Given the description of an element on the screen output the (x, y) to click on. 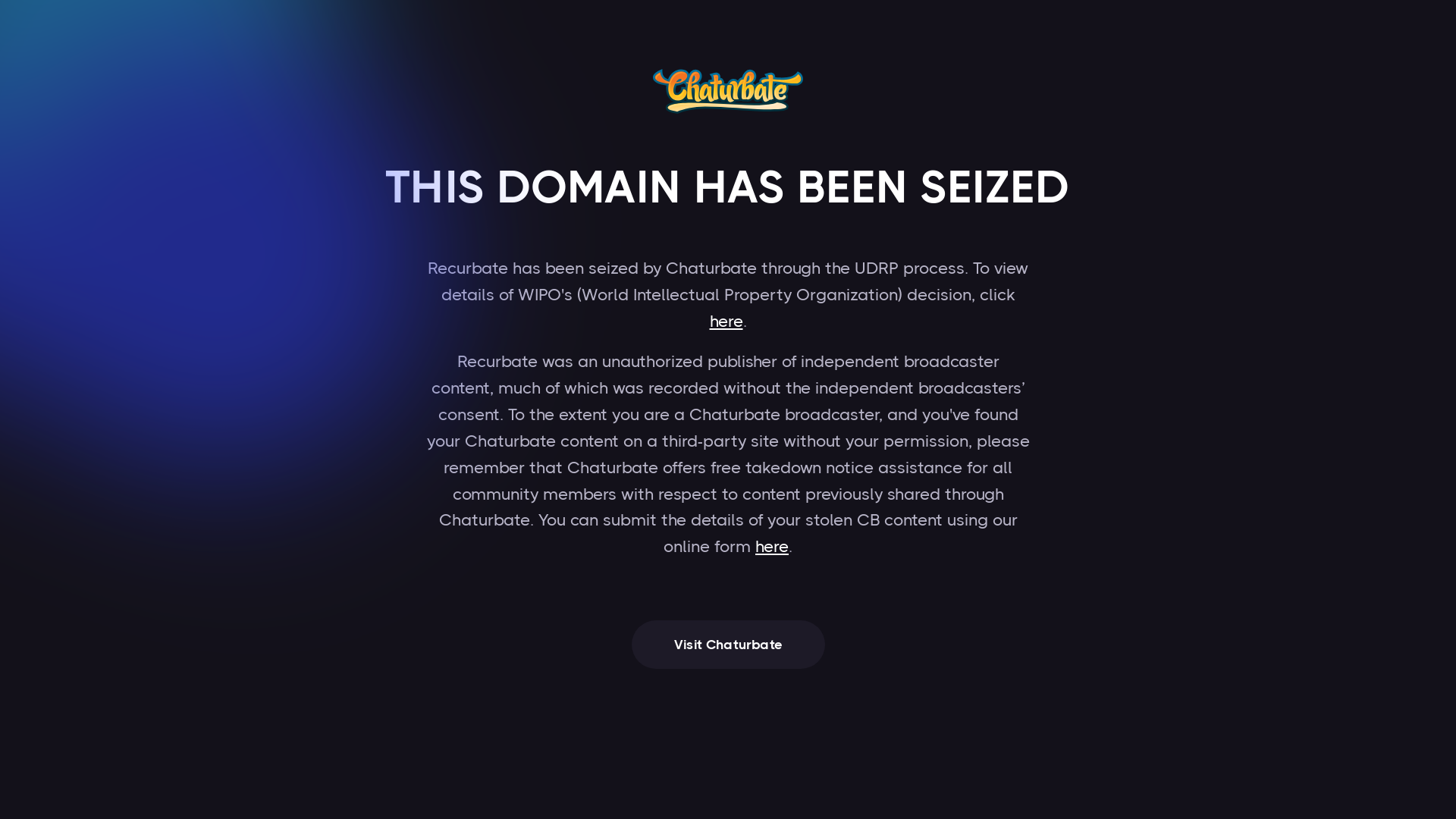
here Element type: text (726, 320)
here Element type: text (771, 545)
Visit Chaturbate Element type: text (728, 644)
